Given the description of an element on the screen output the (x, y) to click on. 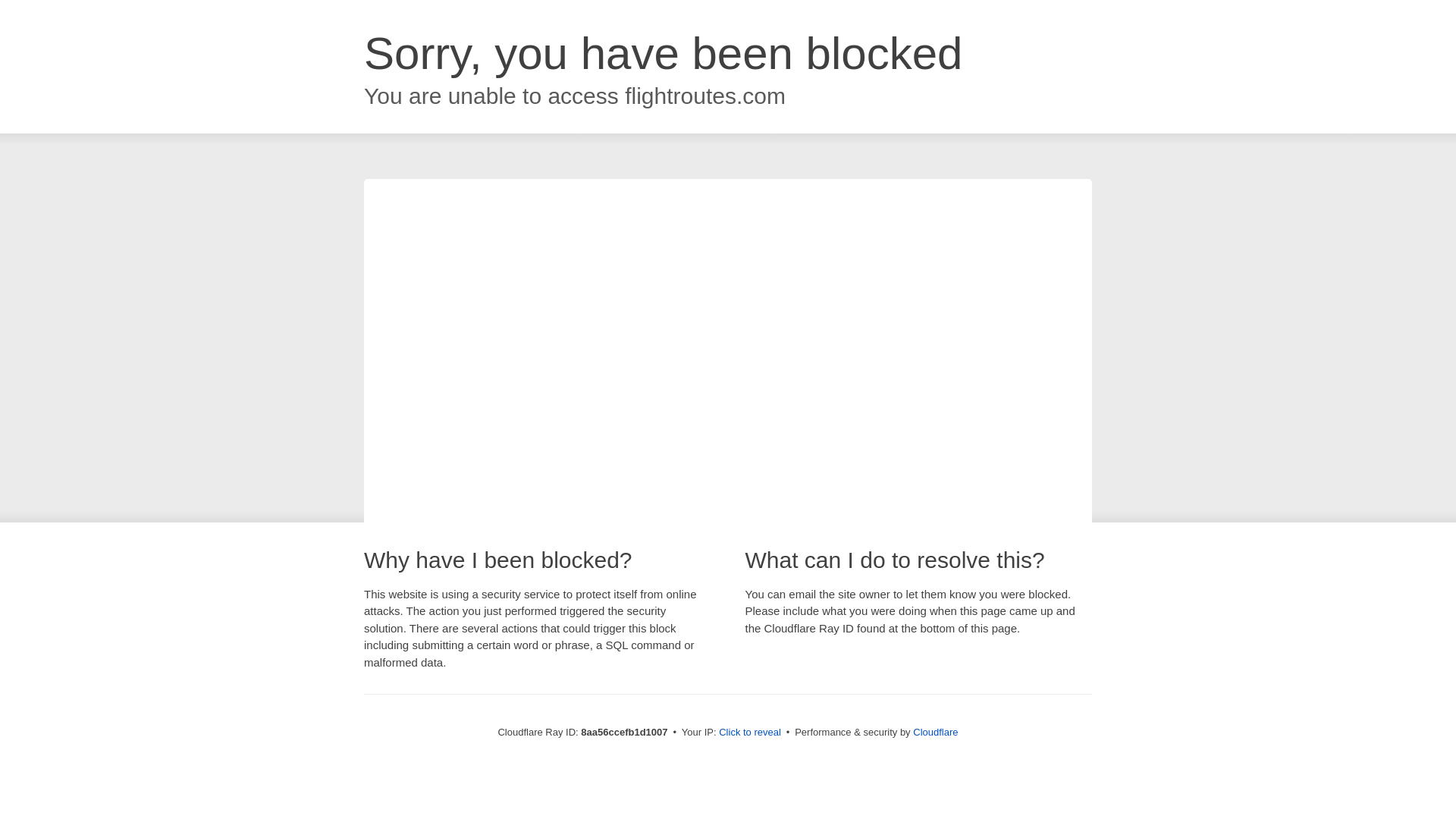
Cloudflare (935, 731)
Click to reveal (749, 732)
